Given the description of an element on the screen output the (x, y) to click on. 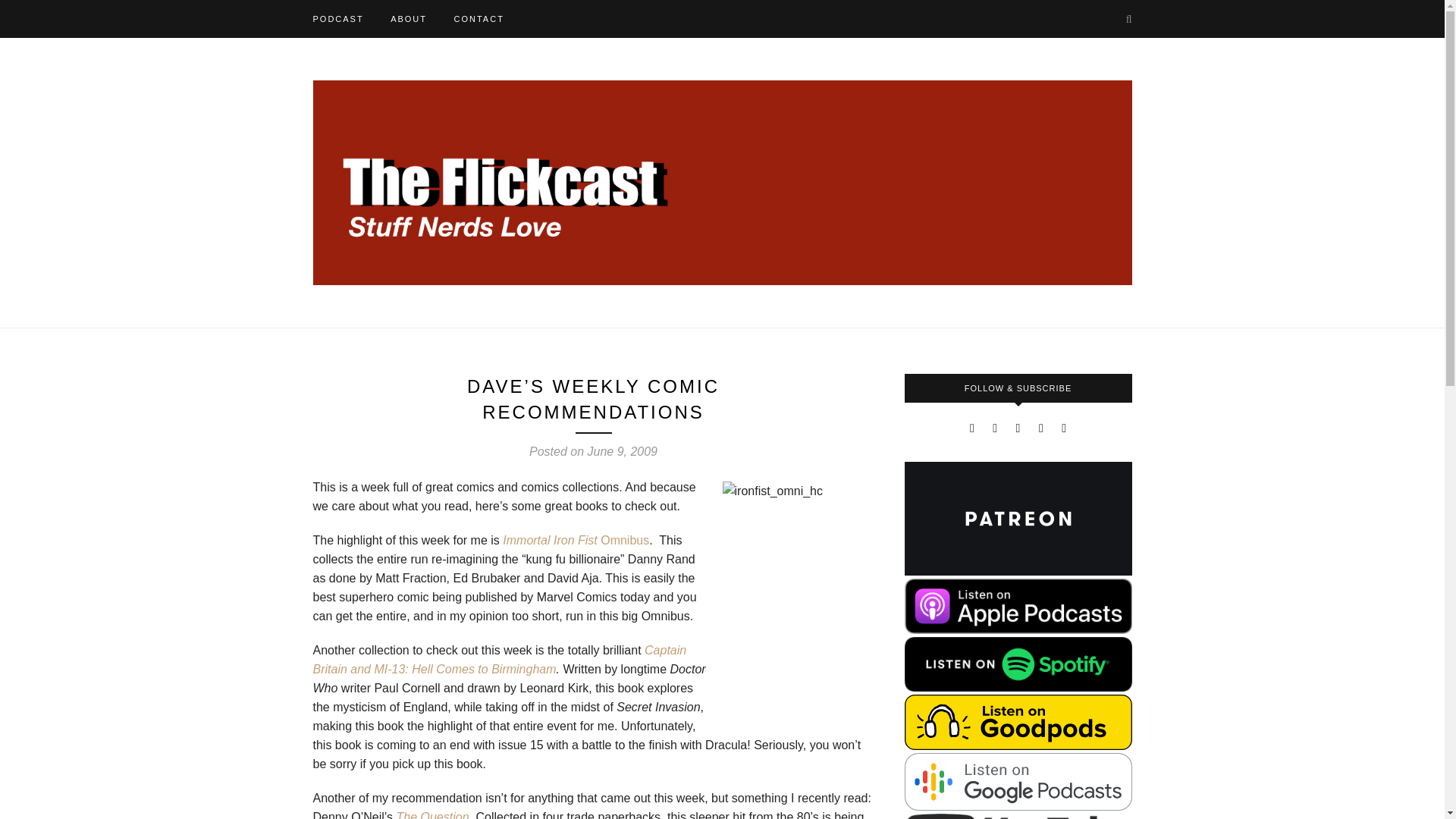
ABOUT (408, 18)
PODCAST (337, 18)
Immortal Iron Fist Omnibus (575, 540)
The Question (432, 814)
CONTACT (477, 18)
Captain Britain and MI-13: Hell Comes to Birmingham (499, 659)
